Given the description of an element on the screen output the (x, y) to click on. 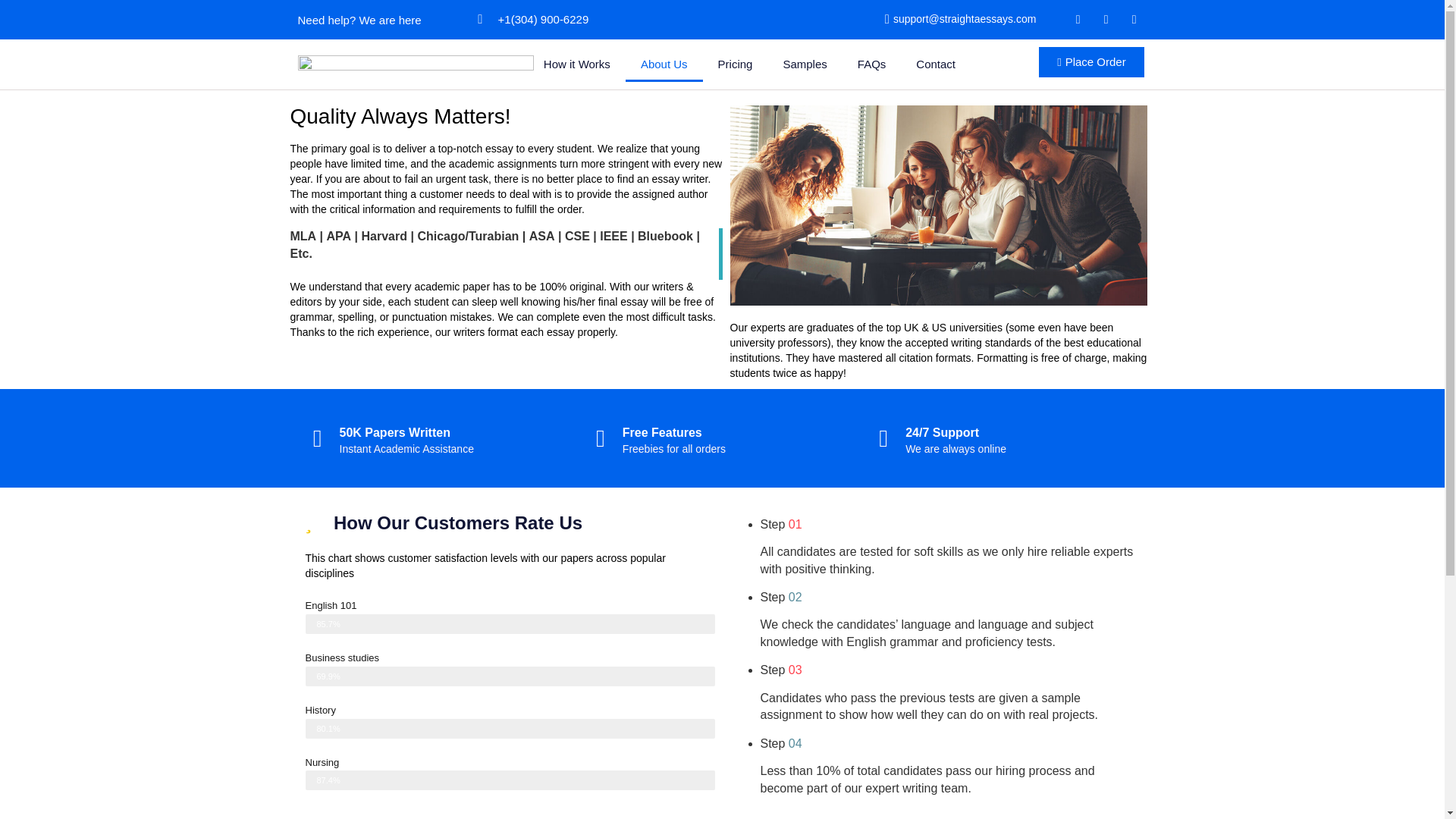
Place Order (1091, 61)
Pricing (735, 63)
How it Works (577, 63)
Contact (936, 63)
Samples (804, 63)
About Us (664, 63)
FAQs (872, 63)
